Given the description of an element on the screen output the (x, y) to click on. 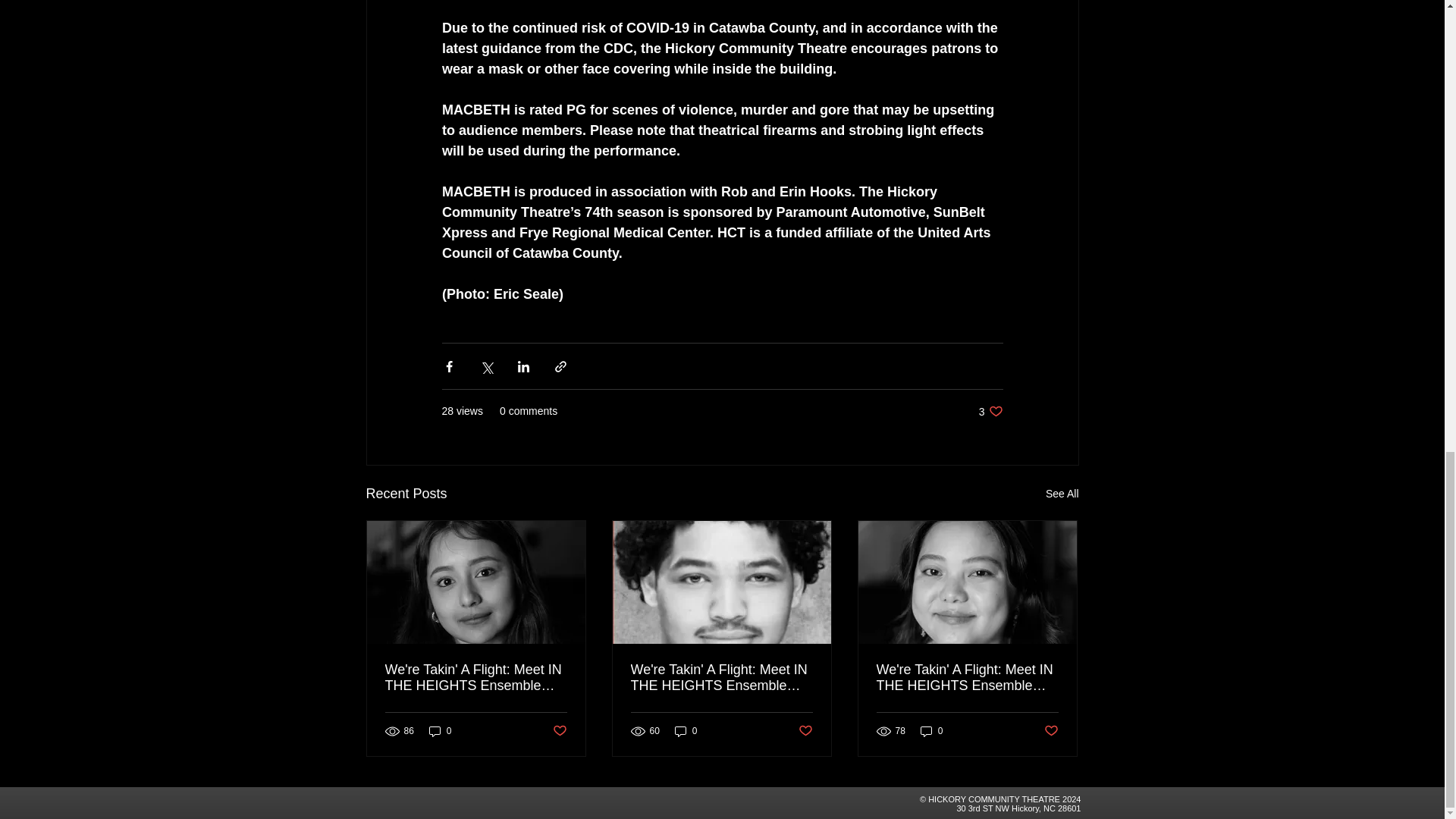
0 (440, 730)
See All (1061, 494)
Post not marked as liked (990, 411)
Post not marked as liked (558, 731)
0 (1050, 731)
0 (685, 730)
Post not marked as liked (931, 730)
